Given the description of an element on the screen output the (x, y) to click on. 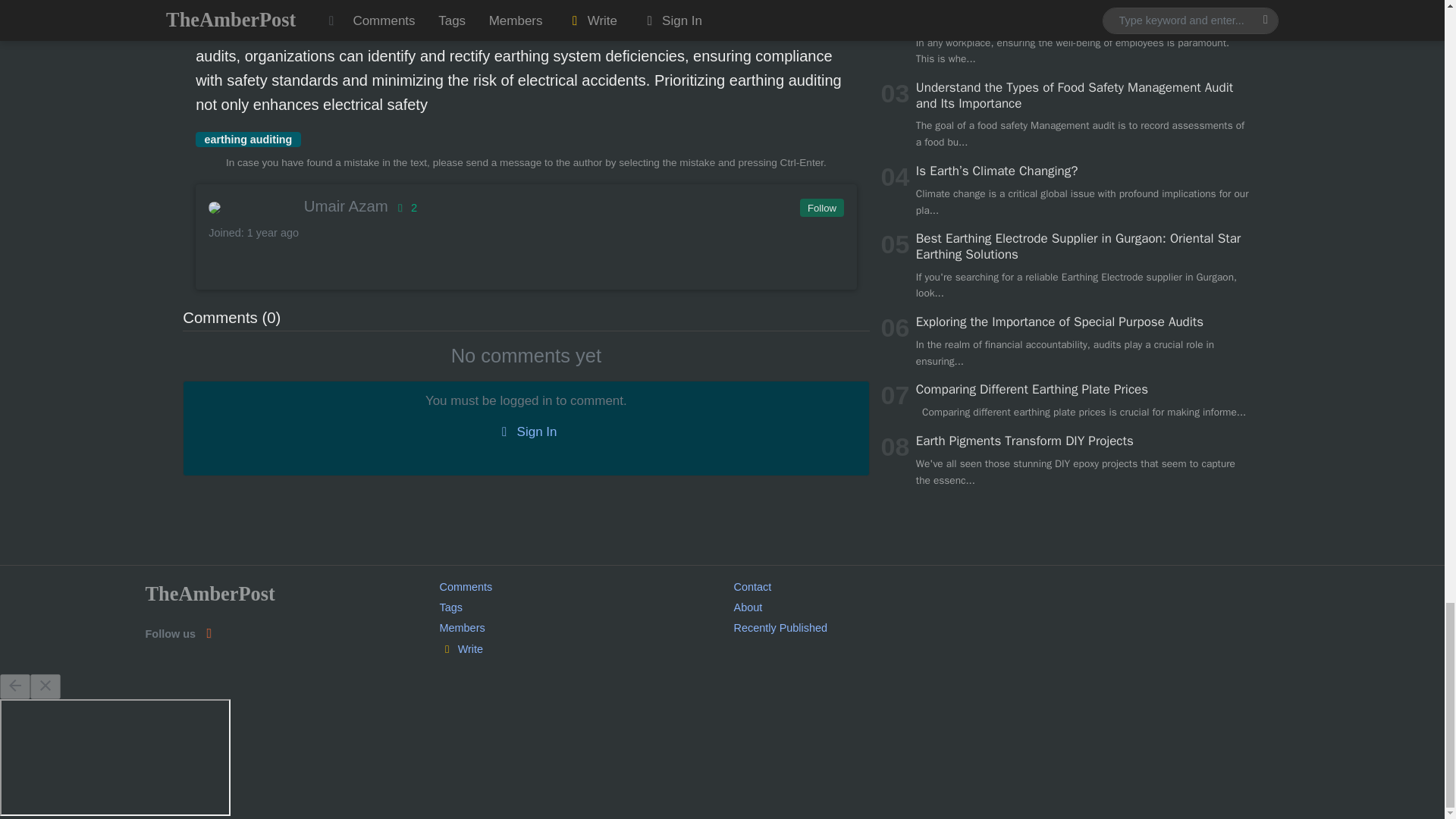
Follow (821, 208)
Sign In (525, 431)
Umair Azam 2 (525, 206)
earthing auditing (248, 139)
earthing auditing (248, 139)
Rating (403, 207)
earthing auditing (472, 31)
